Given the description of an element on the screen output the (x, y) to click on. 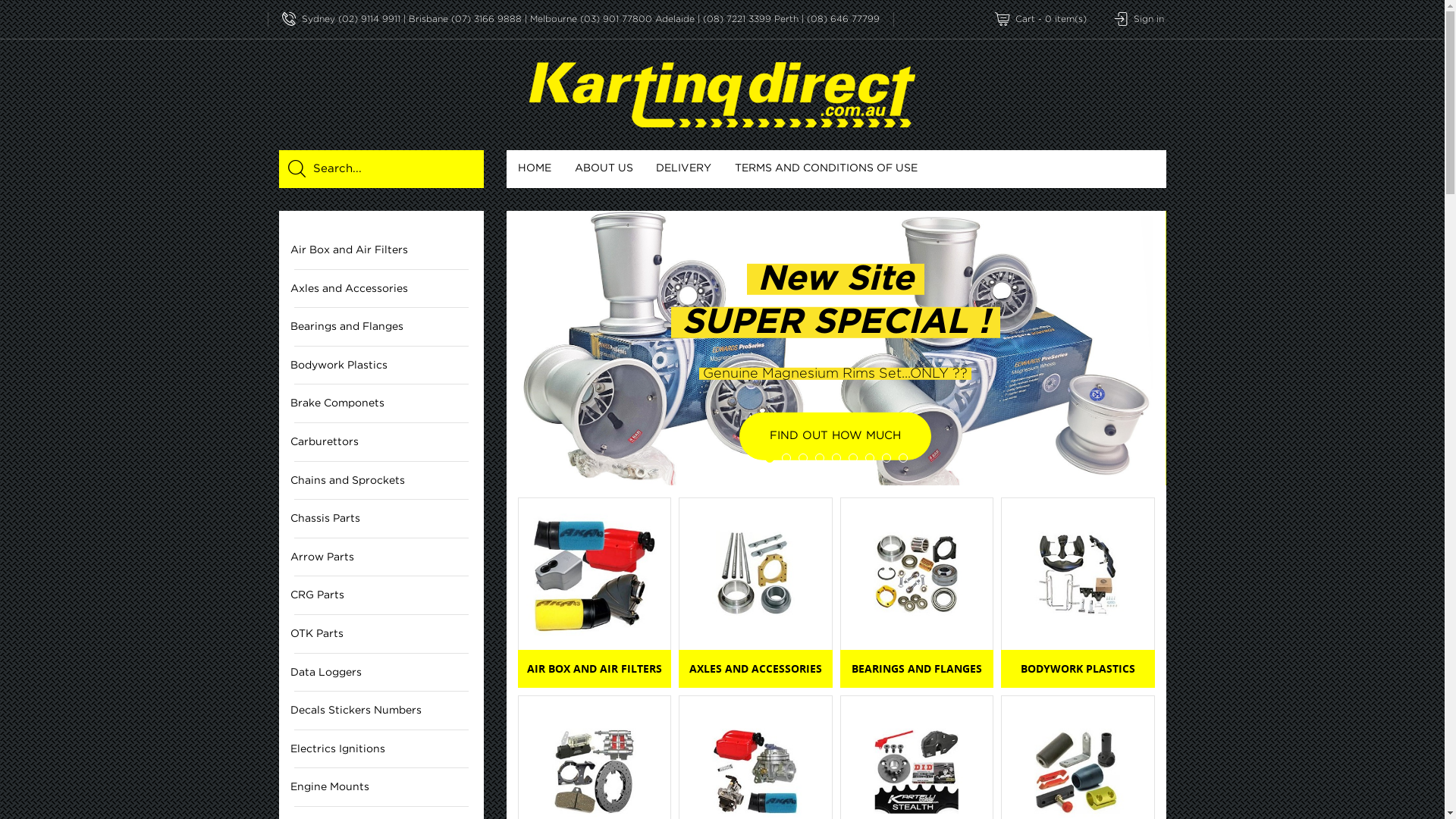
Brake Componets Element type: text (381, 403)
Air Box and Air Filters Element type: hover (594, 573)
CRG Parts Element type: text (381, 595)
AXLES AND ACCESSORIES Element type: text (755, 668)
Electrics Ignitions Element type: text (381, 749)
Bodywork Plastics Element type: hover (1077, 573)
TERMS AND CONDITIONS OF USE Element type: text (826, 169)
DELIVERY Element type: text (683, 169)
HOME Element type: text (534, 169)
BODYWORK PLASTICS Element type: text (1077, 668)
Arrow Parts Element type: text (381, 557)
Data Loggers Element type: text (381, 672)
OTK Parts Element type: text (381, 634)
Carburettors Element type: text (381, 442)
Sign in Element type: text (1137, 19)
Bodywork Plastics Element type: text (381, 365)
Decals Stickers Numbers Element type: text (381, 710)
Bearings and Flanges Element type: hover (917, 573)
Air Box and Air Filters Element type: text (381, 250)
BEARINGS AND FLANGES Element type: text (917, 668)
Engine Mounts Element type: text (381, 787)
Bearings and Flanges Element type: text (381, 326)
Axles and Accessories Element type: text (381, 288)
Chains and Sprockets Element type: text (381, 480)
Axles and Accessories Element type: hover (755, 573)
ABOUT US Element type: text (603, 169)
Chassis Parts Element type: text (381, 518)
AIR BOX AND AIR FILTERS Element type: text (594, 668)
